Given the description of an element on the screen output the (x, y) to click on. 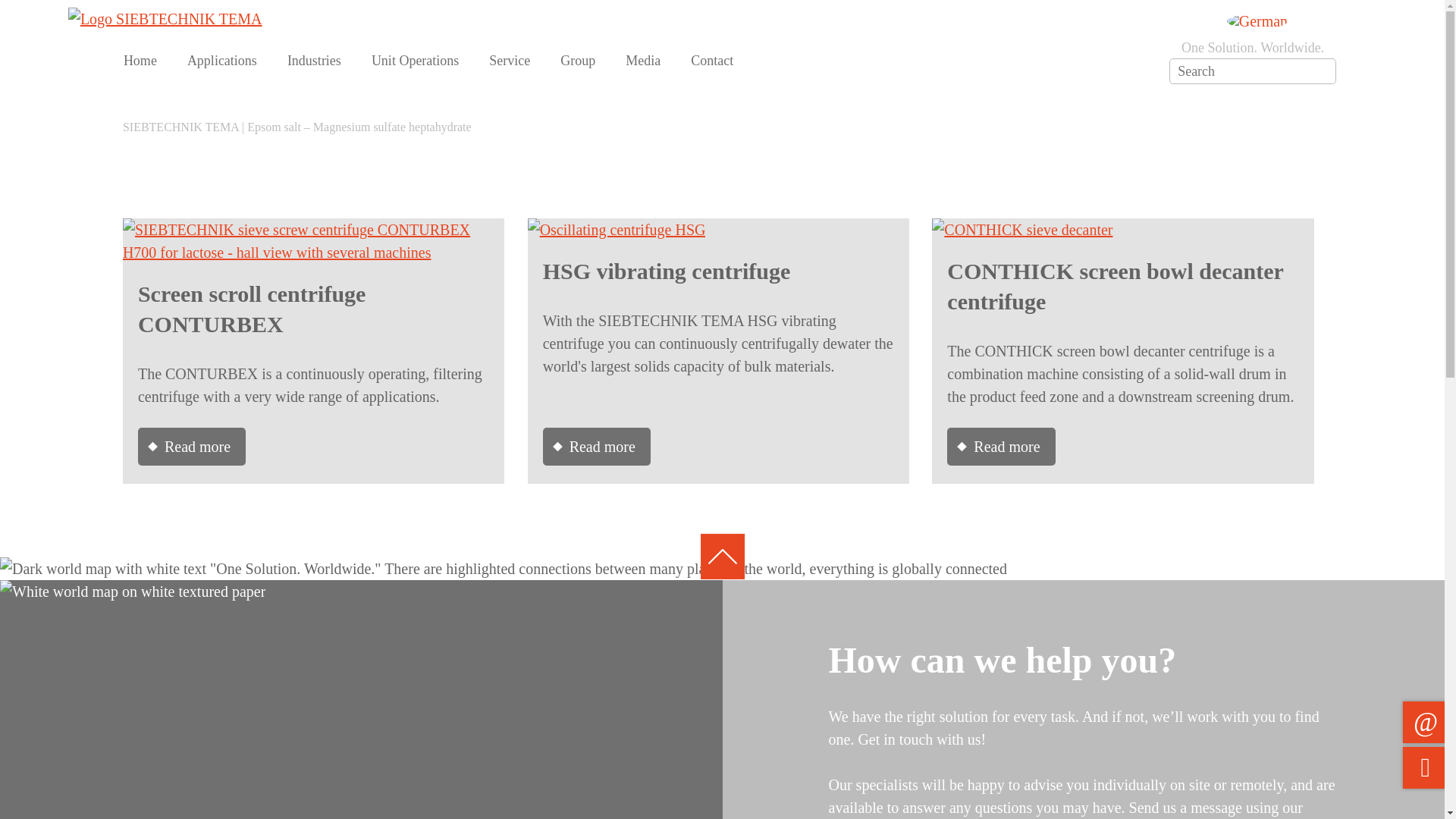
Industries (314, 60)
Read more (1021, 229)
Home (140, 60)
To the home page of SIEBTECHNIK TEMA (165, 18)
Service (509, 60)
Applications (221, 60)
Read more (312, 229)
Media (642, 60)
Group (577, 60)
Read more CONTHICK screen bowl decanter centrifuge (1000, 446)
